Given the description of an element on the screen output the (x, y) to click on. 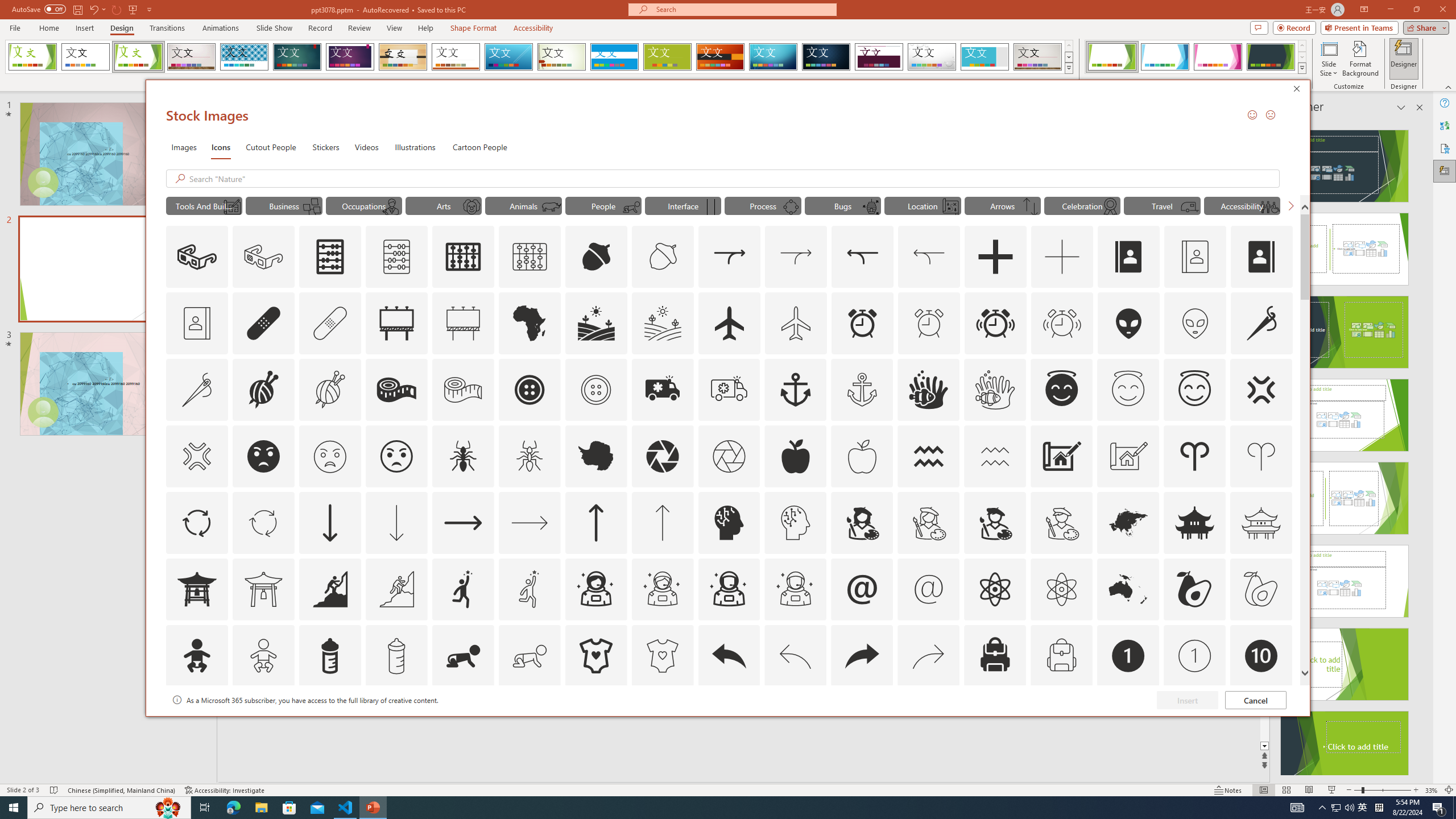
AutomationID: Icons_Sort_M (1030, 206)
AutomationID: Icons_Acquisition_LTR (729, 256)
AutomationID: Icons_Abacus_M (397, 256)
AutomationID: Icons_Badge2 (263, 721)
"Location" Icons. (921, 205)
AutomationID: Icons_Badge3_M (462, 721)
Wisp (561, 56)
AutomationID: Icons_Advertising_M (462, 323)
